Given the description of an element on the screen output the (x, y) to click on. 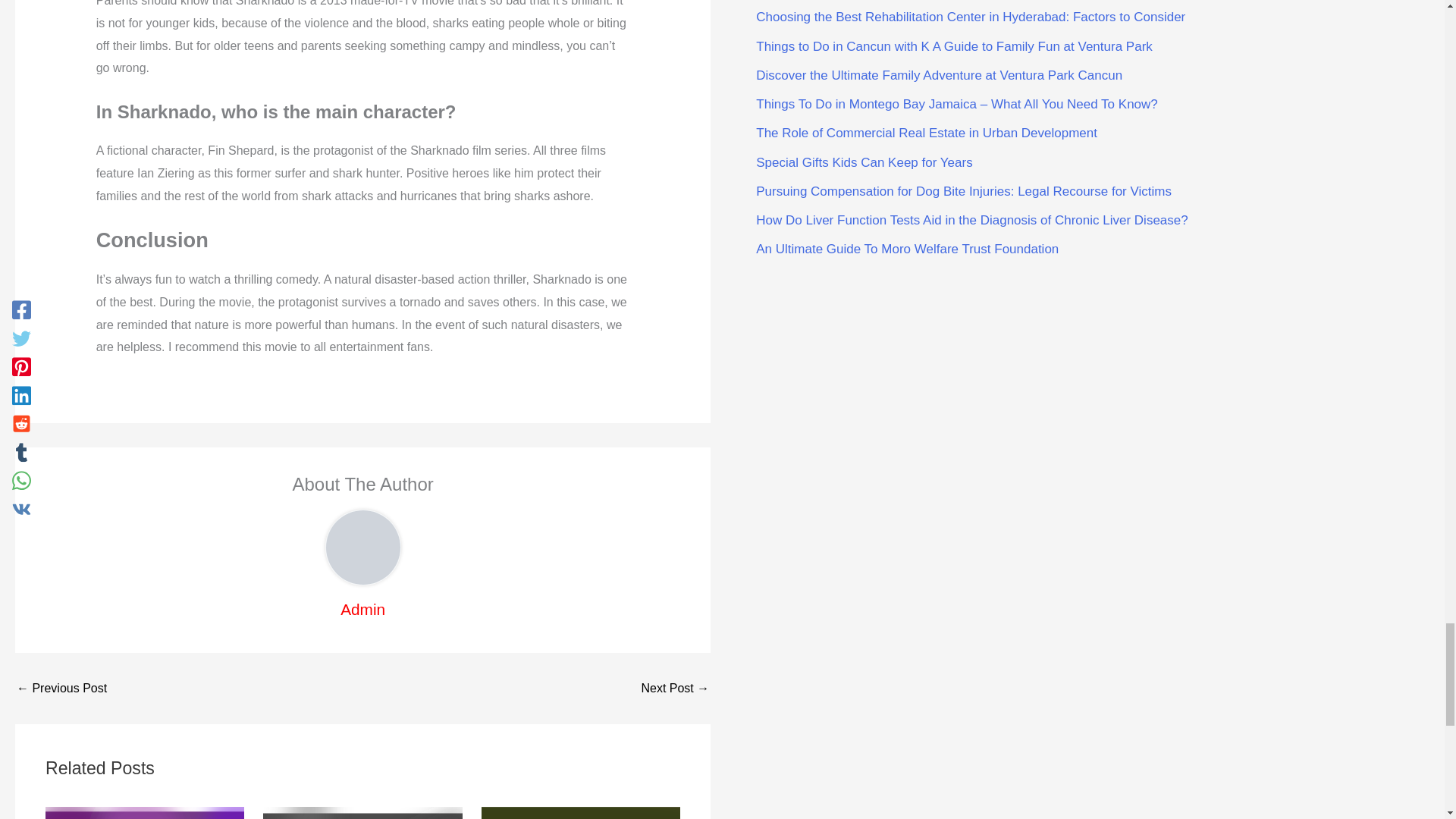
How You Can Cancel Your HBO Max Subscription On Roku-2022. 3 (144, 812)
